Given the description of an element on the screen output the (x, y) to click on. 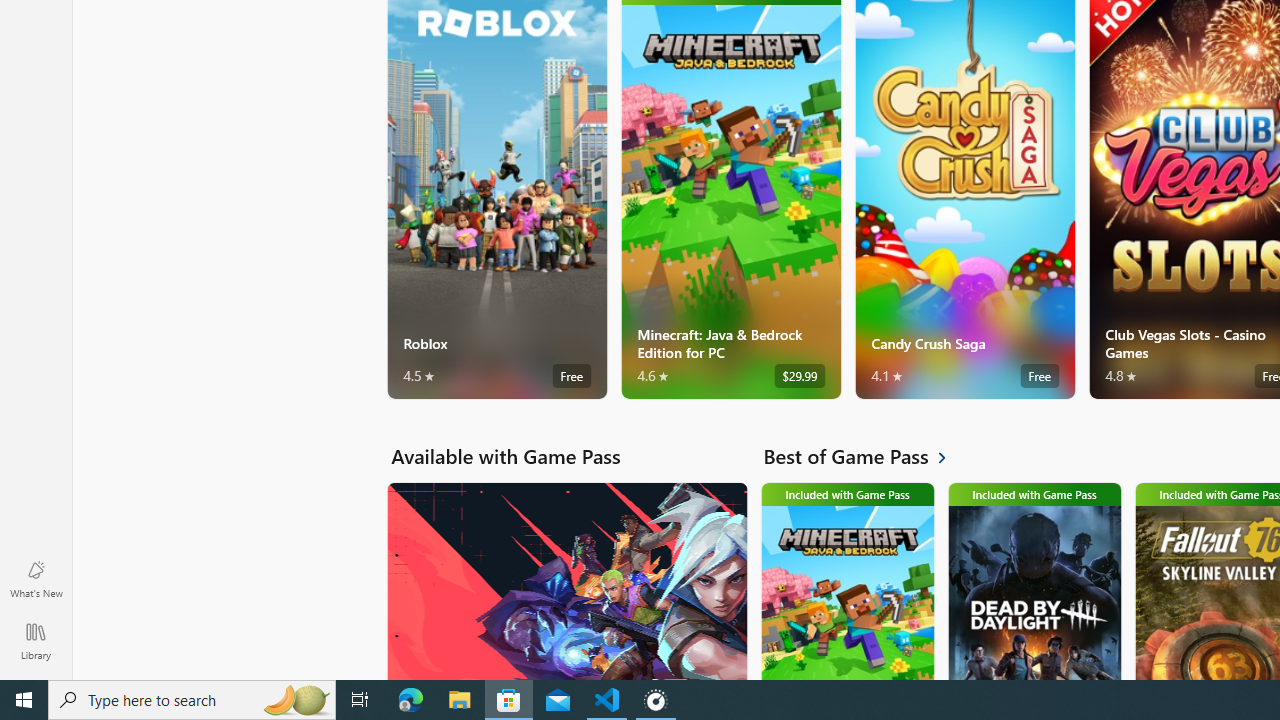
What's New (35, 578)
Available with Game Pass. VALORANT (566, 580)
See all  Best of Game Pass (866, 455)
Library (35, 640)
